Given the description of an element on the screen output the (x, y) to click on. 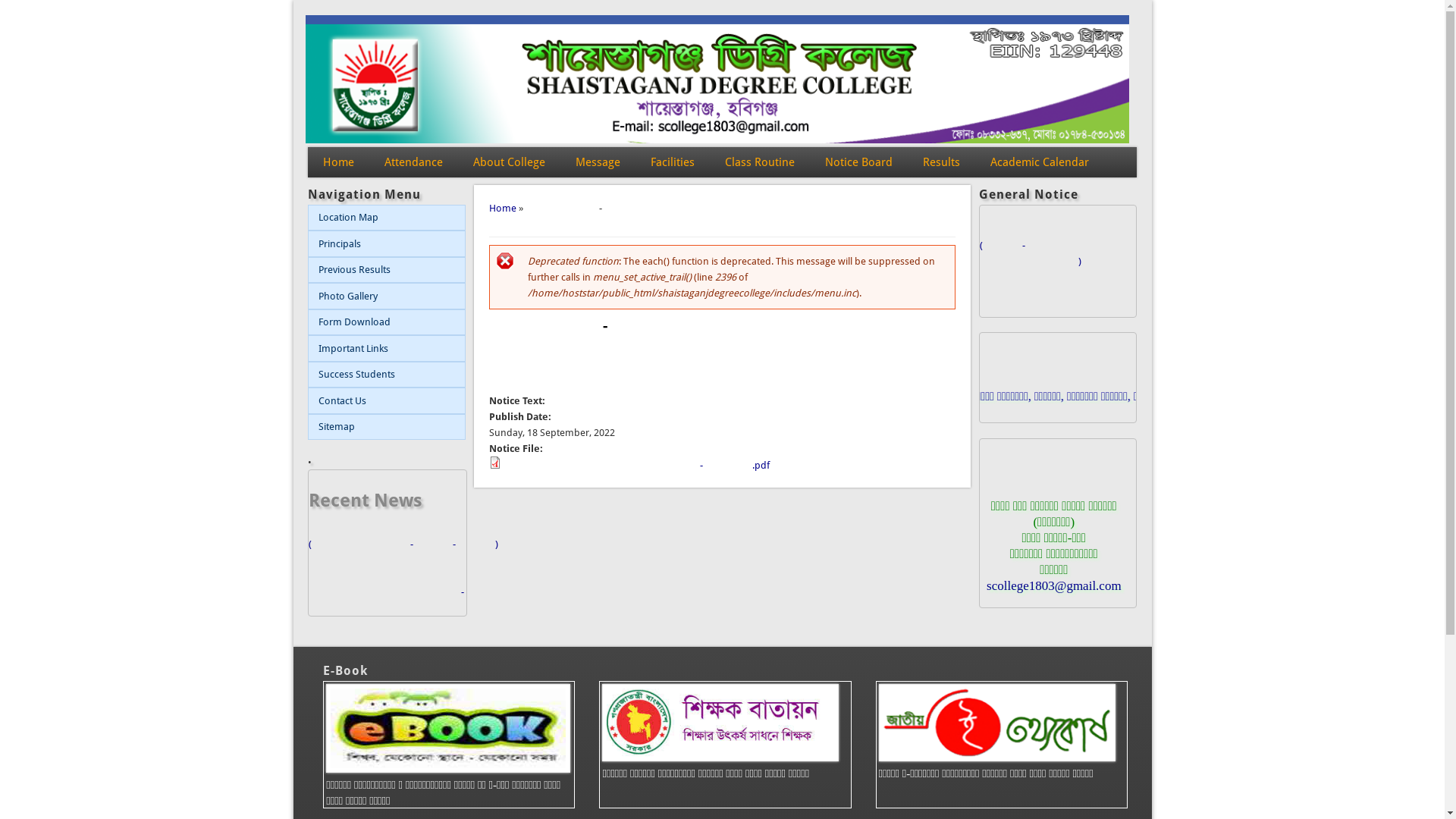
Notice Board Element type: text (858, 162)
Attendance Element type: text (413, 162)
Important Links Element type: text (386, 348)
scollege1803@gmail.com Element type: text (1053, 585)
Sitemap Element type: text (386, 427)
Success Students Element type: text (386, 373)
Home Element type: text (338, 162)
Academic Calendar Element type: text (1039, 162)
Previous Results Element type: text (386, 269)
application/pdf Element type: hover (495, 462)
Contact Us Element type: text (386, 400)
Home Element type: hover (716, 139)
Photo Gallery Element type: text (386, 295)
Message Element type: text (597, 162)
Location Map Element type: text (386, 217)
Class Routine Element type: text (759, 162)
Facilities Element type: text (672, 162)
About College Element type: text (509, 162)
Form Download Element type: text (386, 322)
Results Element type: text (941, 162)
Principals Element type: text (386, 243)
Home Element type: text (502, 207)
